Given the description of an element on the screen output the (x, y) to click on. 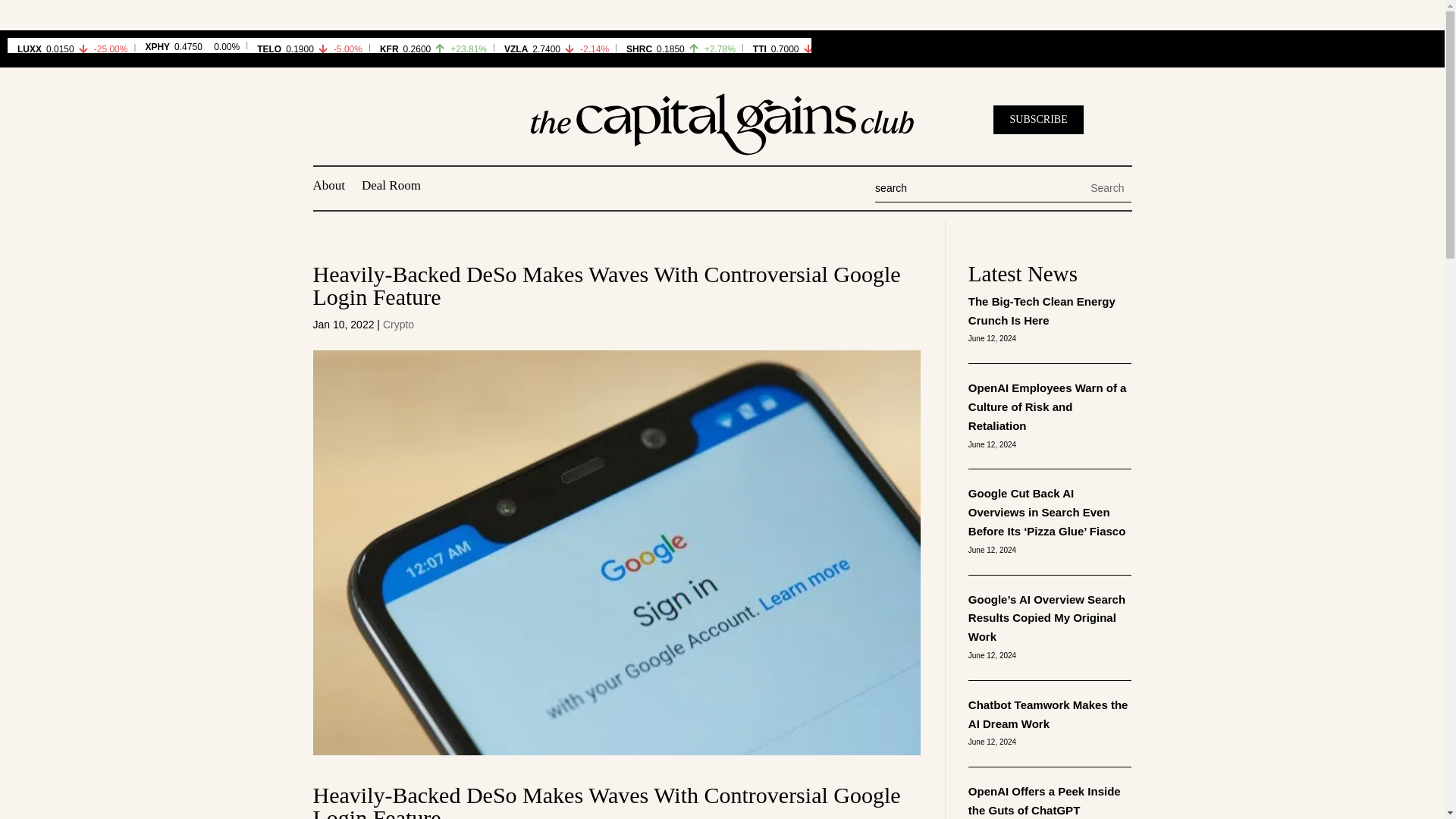
OpenAI Employees Warn of a Culture of Risk and Retaliation (1047, 406)
Search (1107, 187)
Search (1107, 187)
Chatbot Teamwork Makes the AI Dream Work (1048, 714)
OpenAI Offers a Peek Inside the Guts of ChatGPT (1044, 800)
SUBSCRIBE (1037, 119)
The Big-Tech Clean Energy Crunch Is Here (1041, 310)
Crypto (397, 324)
Search (1107, 187)
Deal Room (390, 188)
About (329, 188)
